Given the description of an element on the screen output the (x, y) to click on. 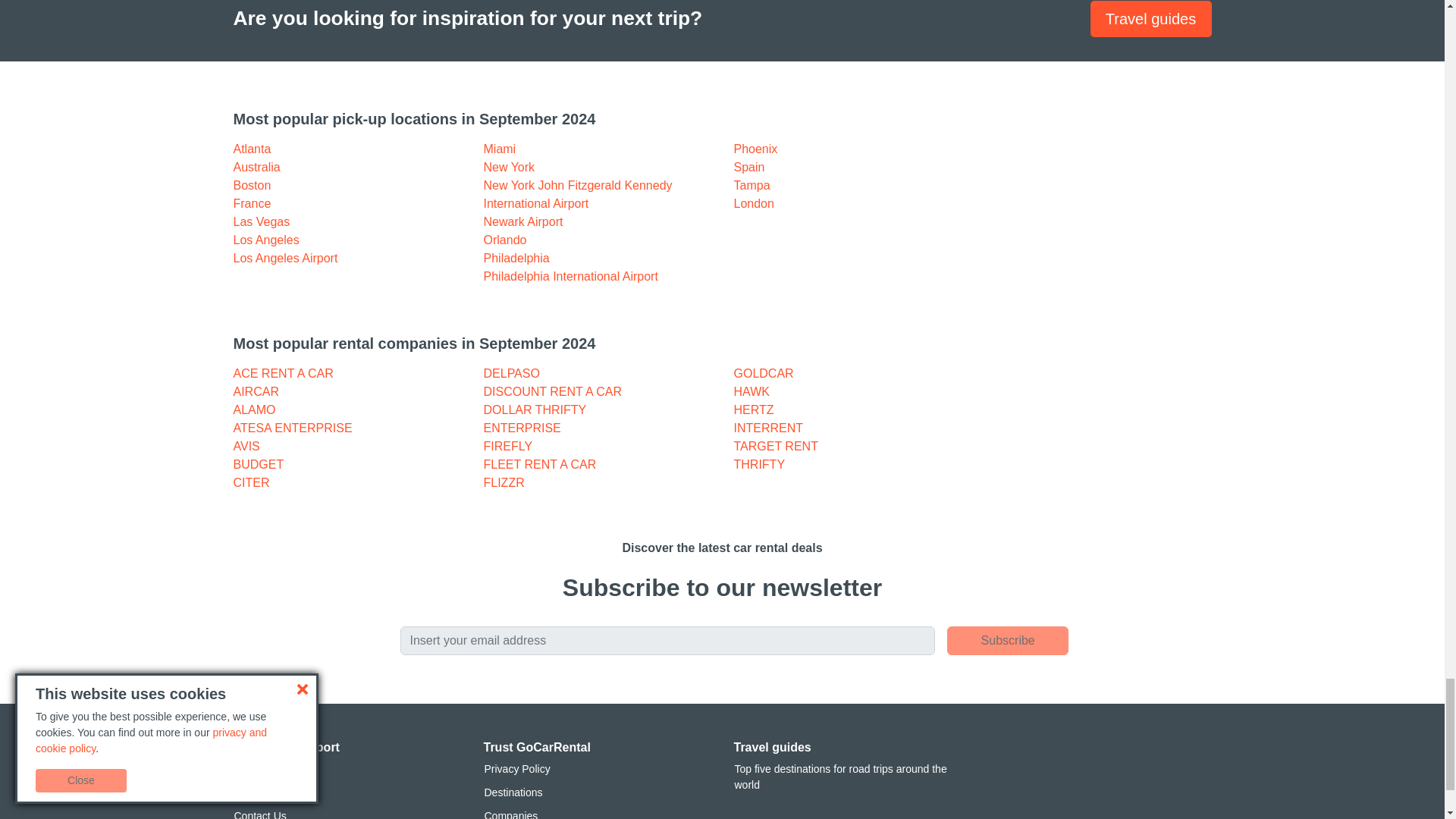
France (251, 203)
London (753, 203)
Miami (499, 148)
Orlando (505, 239)
Spain (749, 166)
Orlando (505, 239)
France (251, 203)
Philadelphia International Airport (570, 276)
Atlanta (251, 148)
Boston (251, 185)
